Given the description of an element on the screen output the (x, y) to click on. 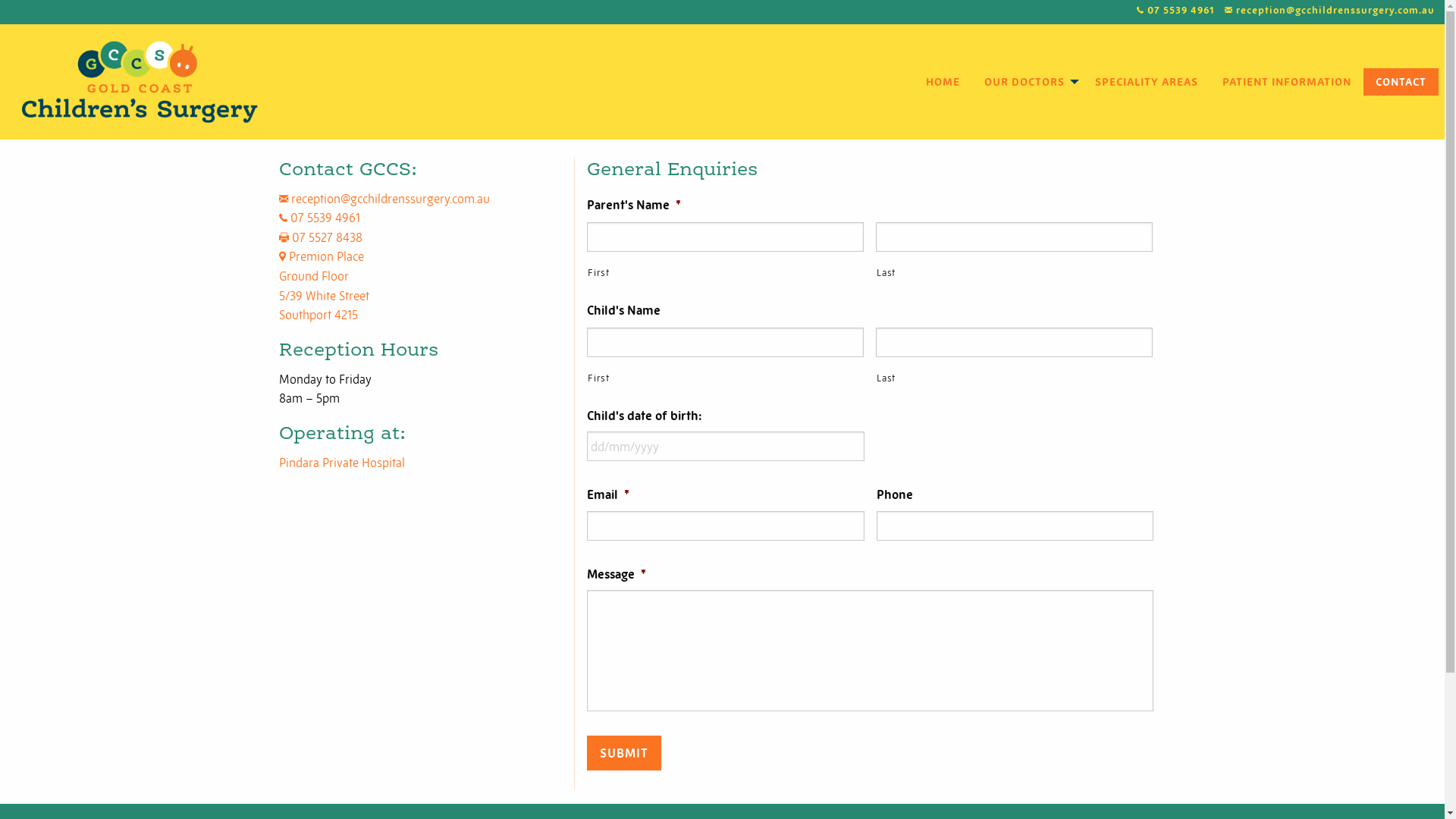
SPECIALITY AREAS Element type: text (1146, 82)
reception@gcchildrenssurgery.com.au Element type: text (384, 198)
Submit Element type: text (623, 752)
Pindara Private Hospital Element type: text (341, 462)
07 5539 4961 Element type: text (1180, 10)
OUR DOCTORS Element type: text (1027, 82)
reception@gcchildrenssurgery.com.au Element type: text (1334, 10)
CONTACT Element type: text (1400, 82)
Premion Place
Ground Floor
5/39 White Street
Southport 4215 Element type: text (324, 285)
HOME Element type: text (942, 82)
07 5527 8438 Element type: text (320, 236)
07 5539 4961 Element type: text (319, 217)
PATIENT INFORMATION Element type: text (1286, 82)
